Given the description of an element on the screen output the (x, y) to click on. 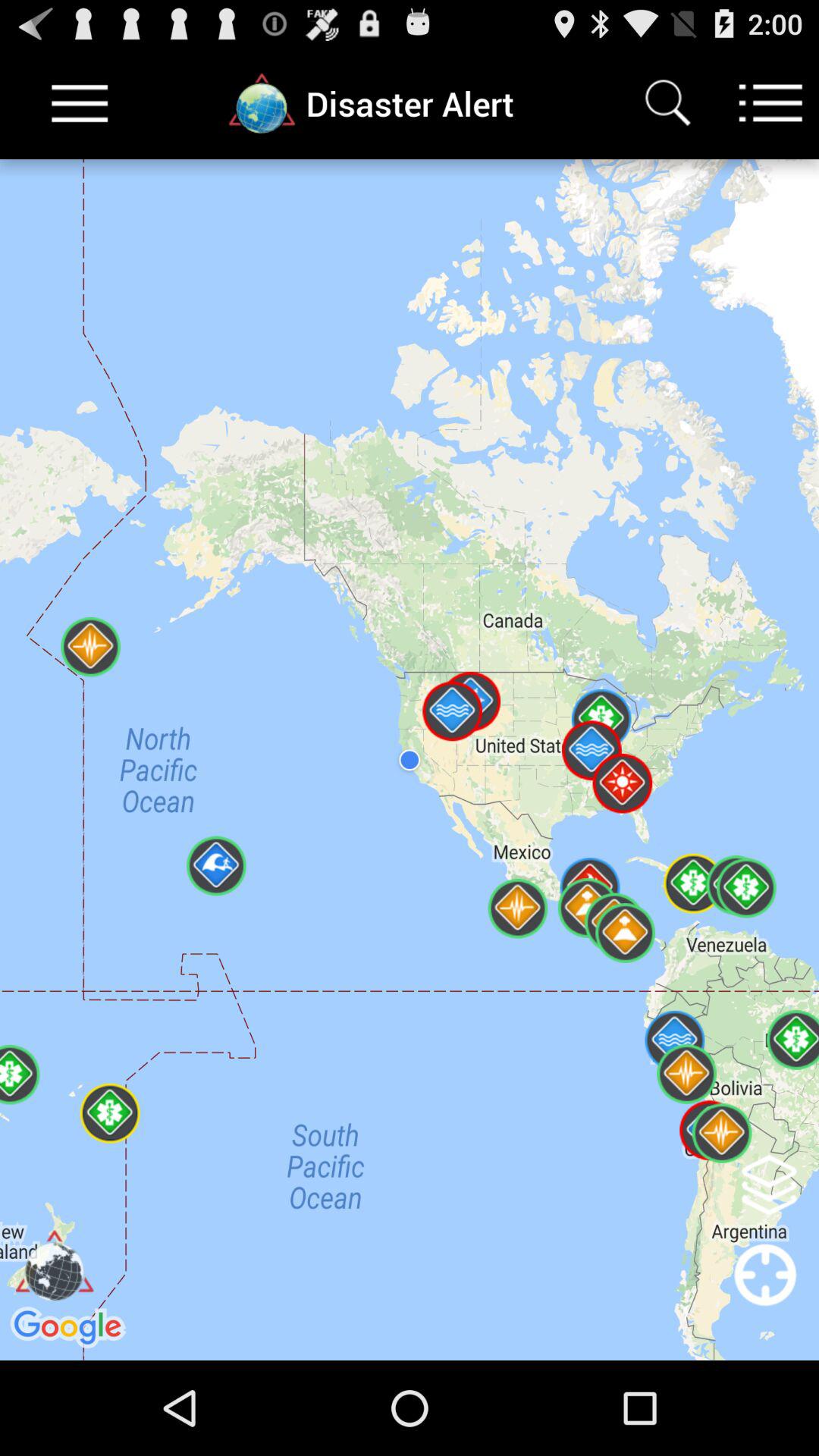
search button (667, 102)
